Given the description of an element on the screen output the (x, y) to click on. 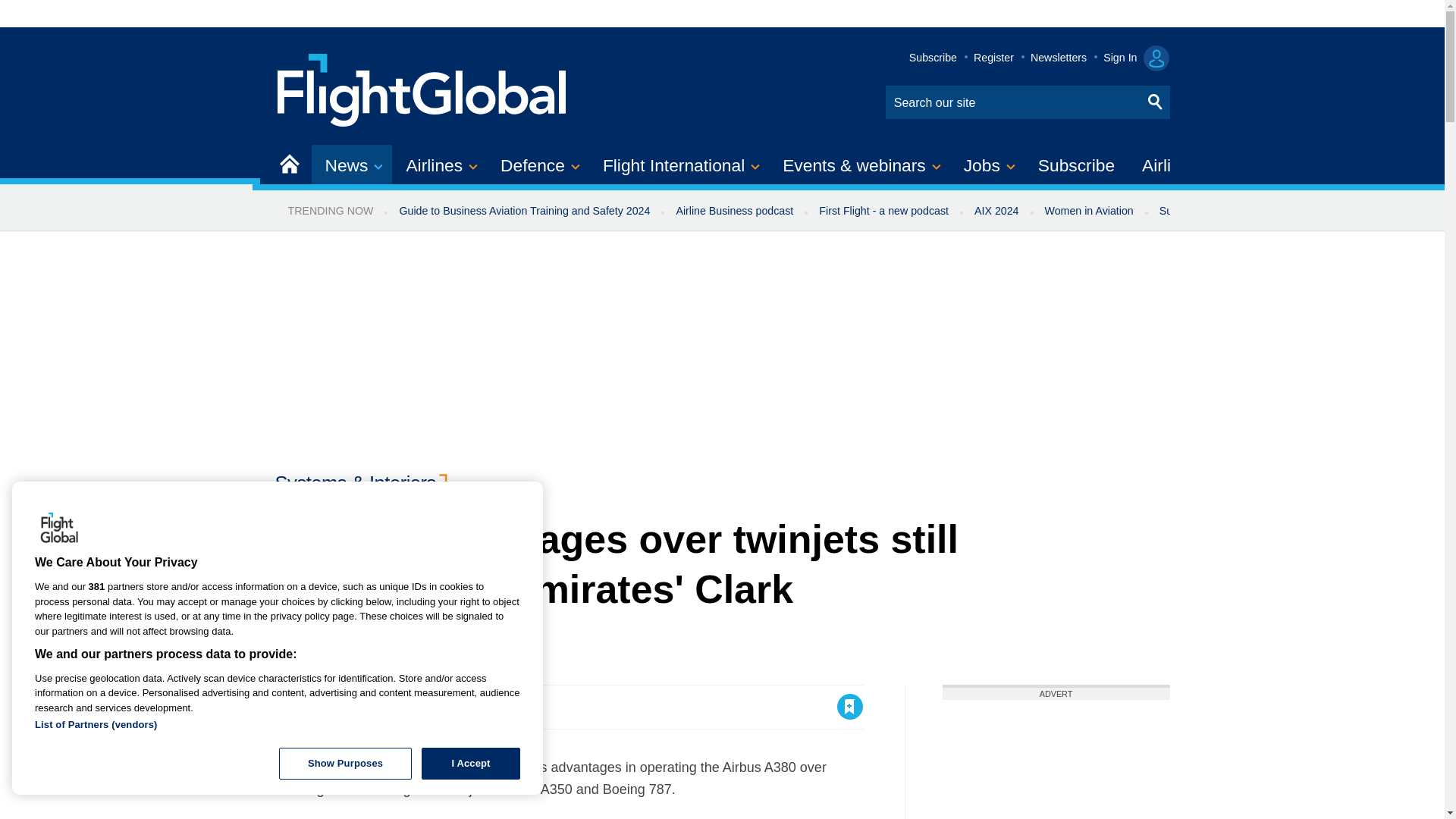
Email this article (386, 706)
First Flight - a new podcast (883, 210)
Share this on Twitter (320, 706)
Flight Global Logo (58, 528)
Share this on Linked in (352, 706)
Site name (422, 88)
Sustainable Aviation newsletter (1234, 210)
Airline Business podcast (734, 210)
AIX 2024 (996, 210)
Share this on Facebook (288, 706)
Women in Aviation (1089, 210)
Guide to Business Aviation Training and Safety 2024 (523, 210)
